Given the description of an element on the screen output the (x, y) to click on. 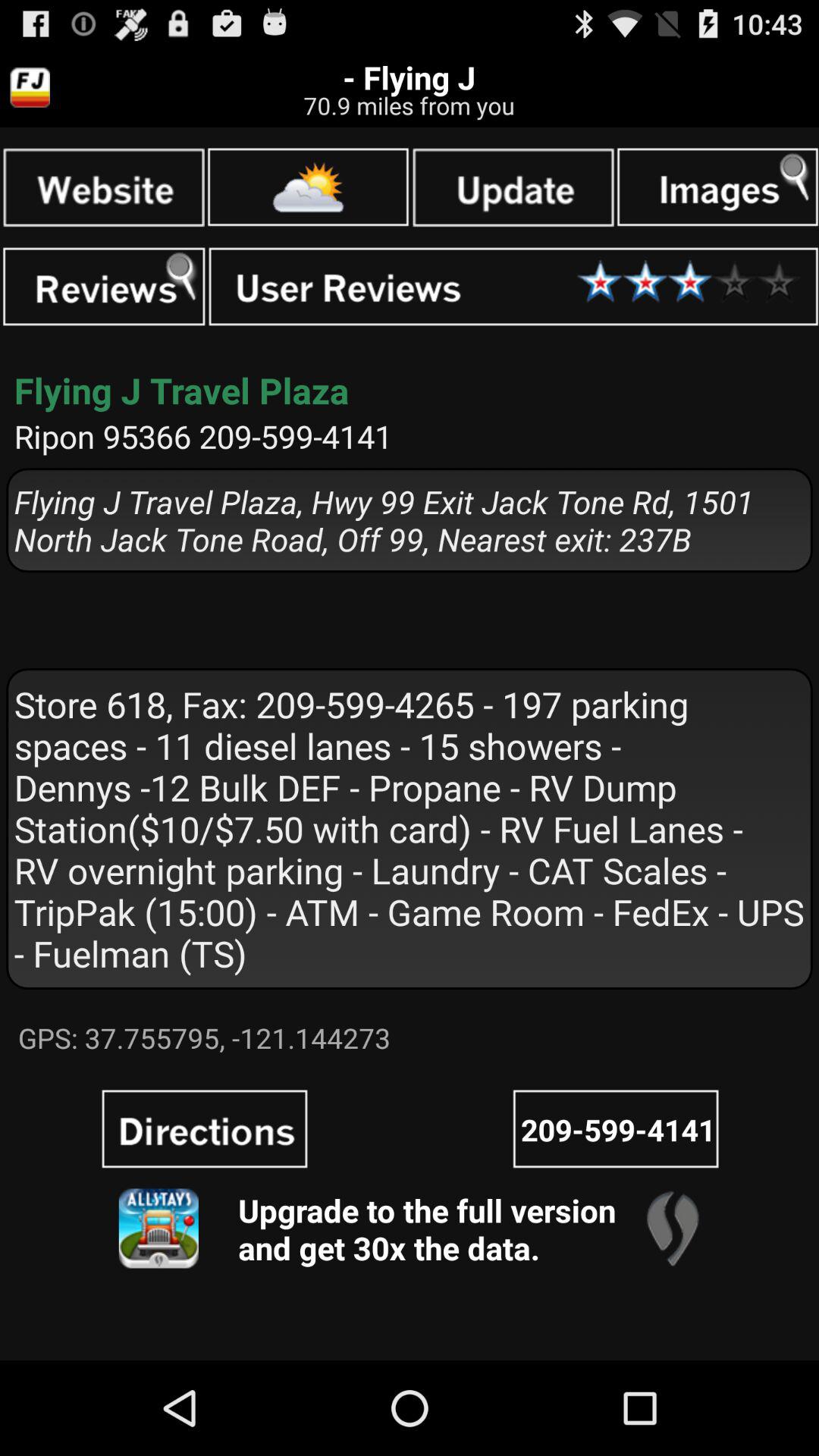
press images button (717, 186)
